Given the description of an element on the screen output the (x, y) to click on. 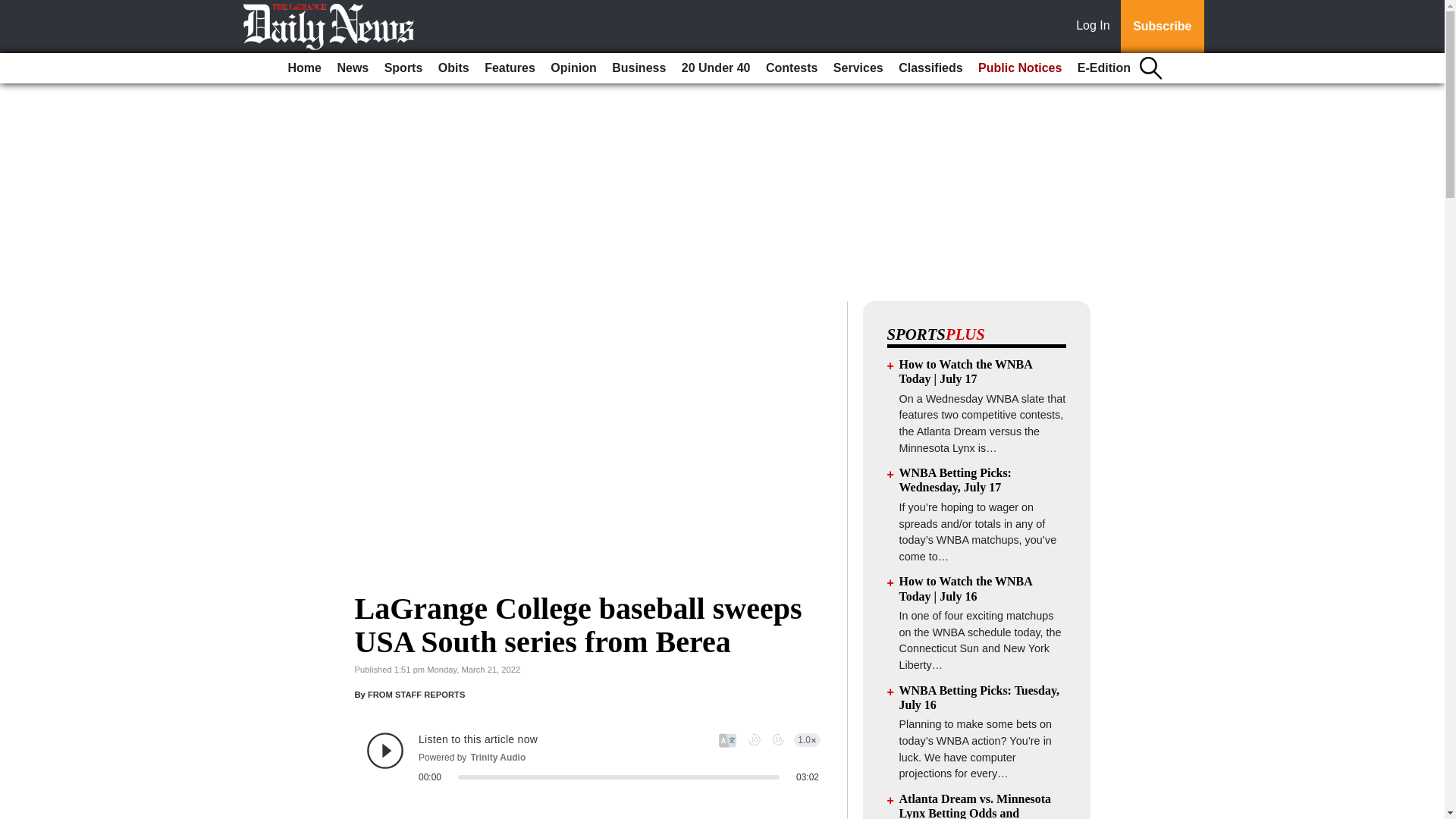
Obits (454, 68)
Services (858, 68)
Trinity Audio Player (592, 757)
WNBA Betting Picks: Tuesday, July 16 (979, 697)
Public Notices (1019, 68)
Classifieds (930, 68)
FROM STAFF REPORTS (416, 694)
WNBA Betting Picks: Wednesday, July 17 (955, 479)
Sports (403, 68)
Log In (1095, 26)
Contests (792, 68)
Go (13, 9)
News (352, 68)
Features (510, 68)
Subscribe (1162, 26)
